Given the description of an element on the screen output the (x, y) to click on. 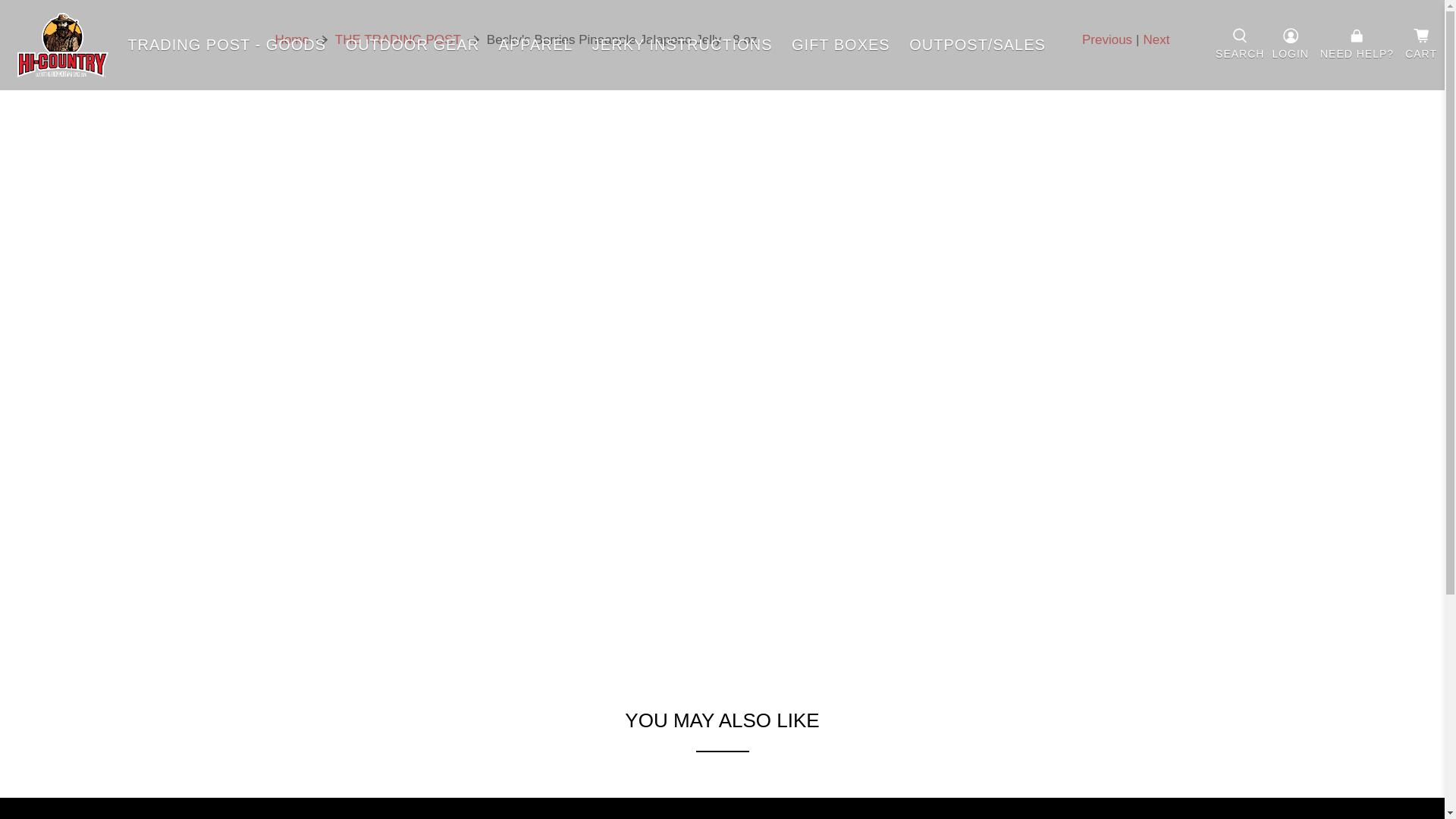
Hi-Country Snack Foods Inc. (324, 816)
APPAREL (535, 44)
NEED HELP? (1356, 44)
JERKY INSTRUCTIONS (681, 44)
GIFT BOXES (840, 44)
Hi-Country Snack Foods Inc. (291, 39)
TRADING POST - GOODS (226, 44)
CART (1421, 45)
OUTDOOR GEAR (412, 44)
Previous (1106, 39)
